Given the description of an element on the screen output the (x, y) to click on. 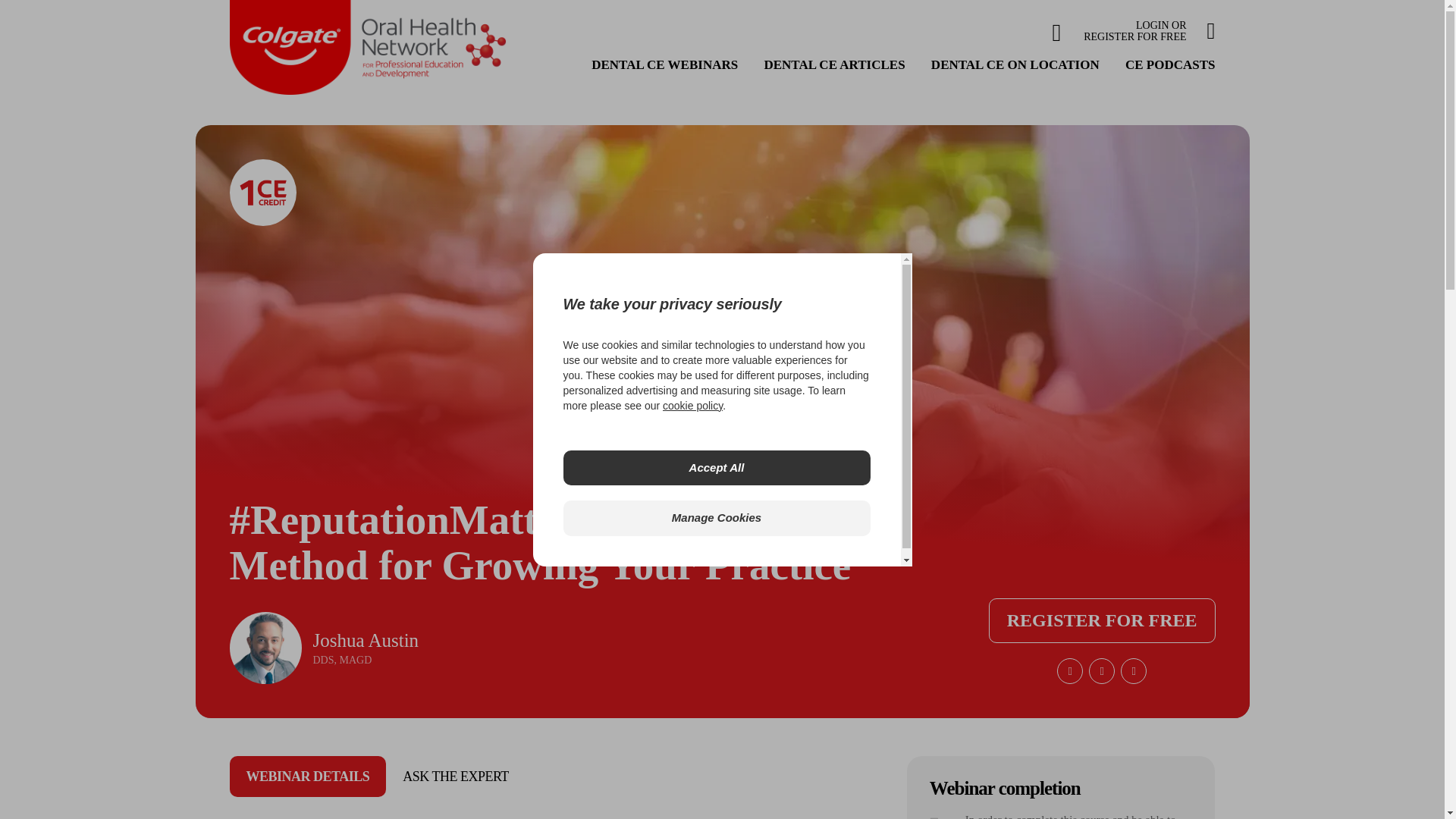
Joshua Austin (264, 647)
Manage Cookies (715, 518)
Accept All (1148, 31)
cookie policy (715, 468)
DENTAL CE WEBINARS (692, 404)
DENTAL CE ARTICLES (664, 64)
